Given the description of an element on the screen output the (x, y) to click on. 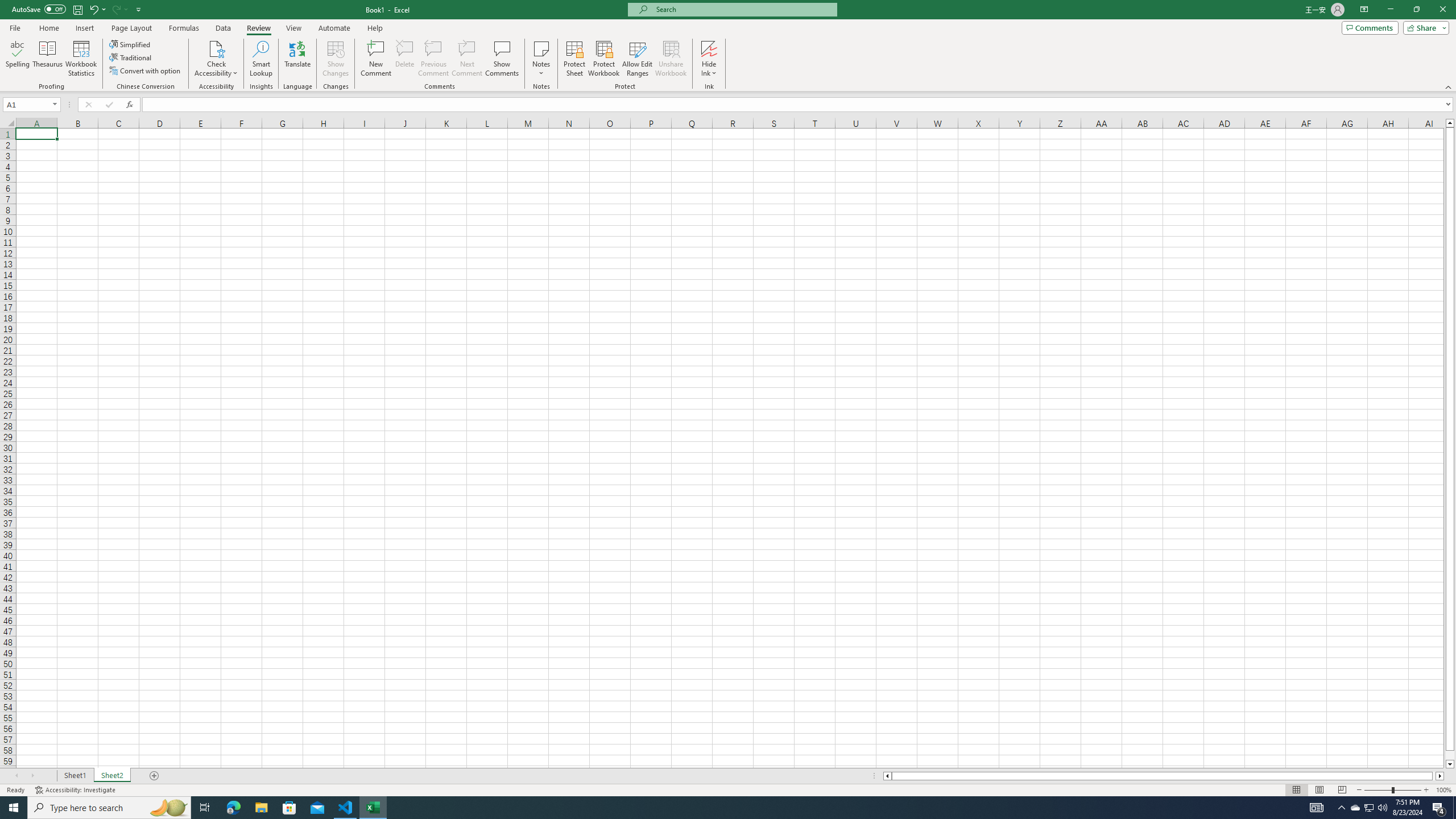
Show Comments (501, 58)
Spelling... (17, 58)
Simplified (130, 44)
Delete (404, 58)
